Given the description of an element on the screen output the (x, y) to click on. 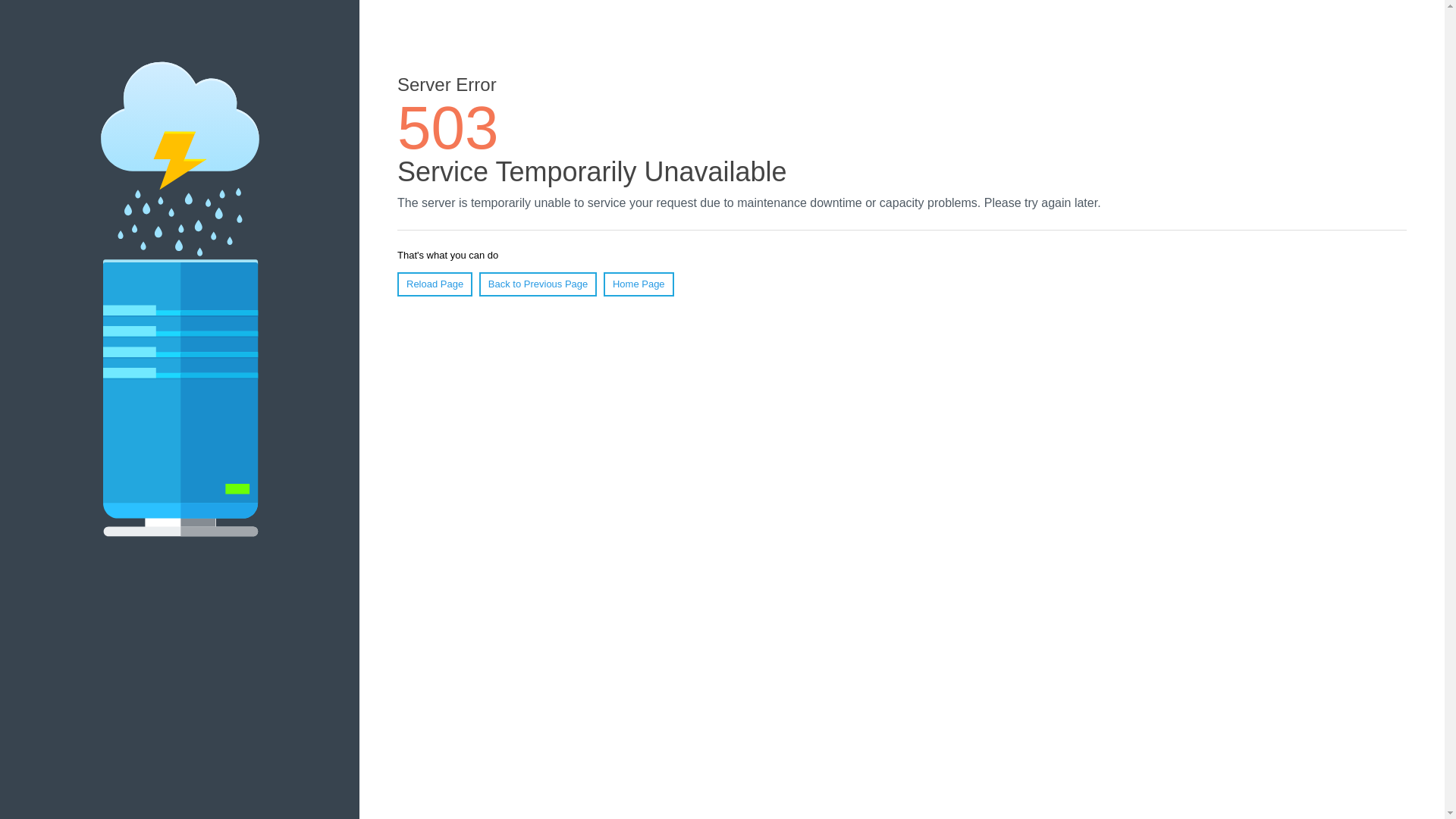
Reload Page (434, 283)
Home Page (639, 283)
Back to Previous Page (537, 283)
